Given the description of an element on the screen output the (x, y) to click on. 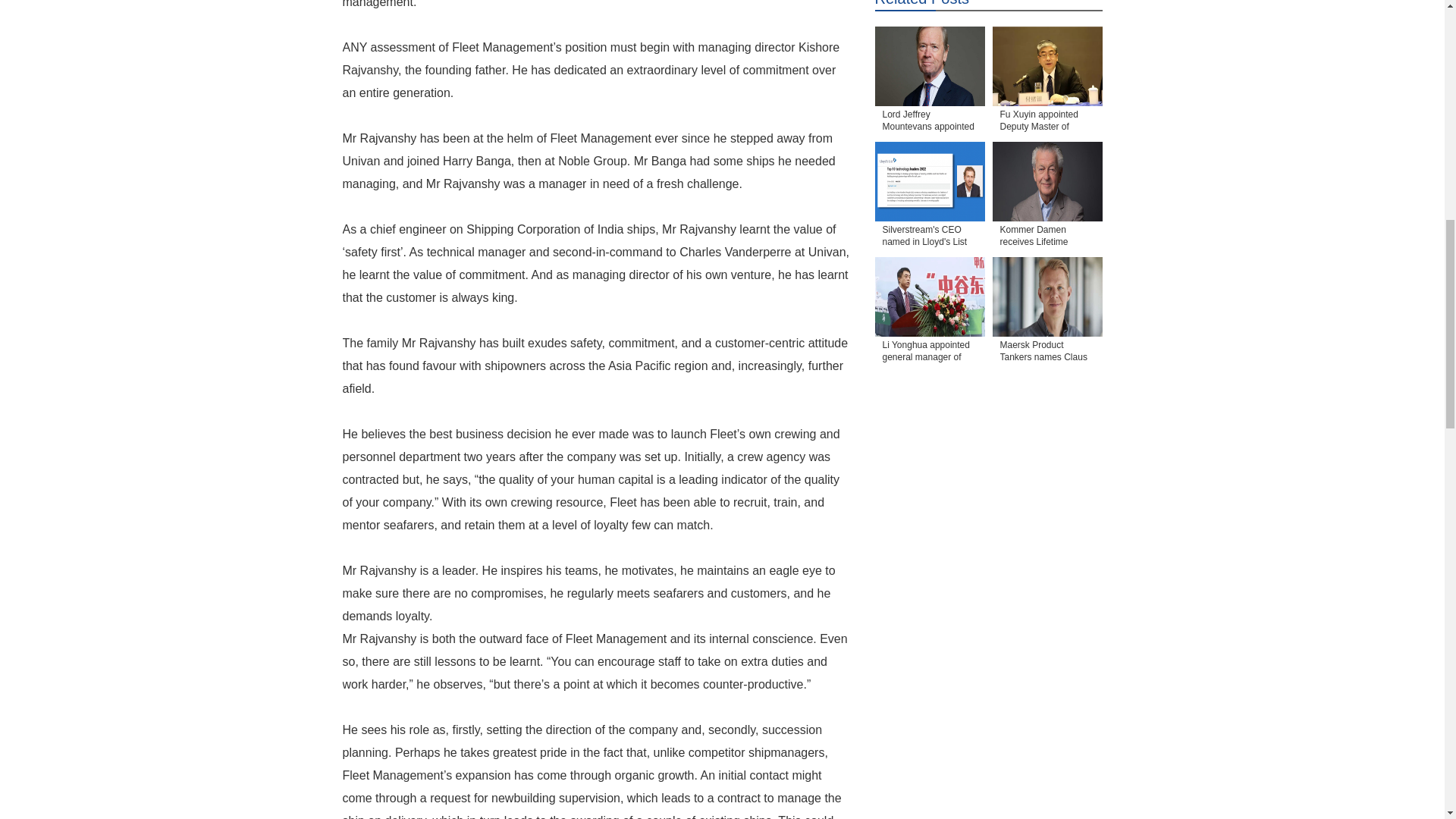
Lord Jeffrey Mountevans appointed new Baltic Exchan (929, 121)
Silverstream's CEO named in Lloyd's List Top 10 Tec (929, 236)
Silverstream's CEO named in Lloyd's List Top 10 Tec (929, 236)
Li Yonghua appointed general manager of Zhonggu Log (929, 351)
Fu Xuyin appointed Deputy Master of Ministry of Tra (1046, 121)
Li Yonghua appointed general manager of Zhonggu Log (929, 351)
Silverstream's CEO named in Lloyd's List Top 10 Tec (930, 181)
Kommer Damen receives Lifetime Achievement Award (1046, 181)
Fu Xuyin appointed Deputy Master of Ministry of Tra (1046, 66)
Maersk Product Tankers names Claus Gronborg new CEO (1046, 351)
Kommer Damen receives Lifetime Achievement Award (1046, 236)
Kommer Damen receives Lifetime Achievement Award (1046, 236)
Maersk Product Tankers names Claus Gronborg new CEO (1046, 351)
Maersk Product Tankers names Claus Gronborg new CEO (1046, 296)
Fu Xuyin appointed Deputy Master of Ministry of Tra (1046, 121)
